Given the description of an element on the screen output the (x, y) to click on. 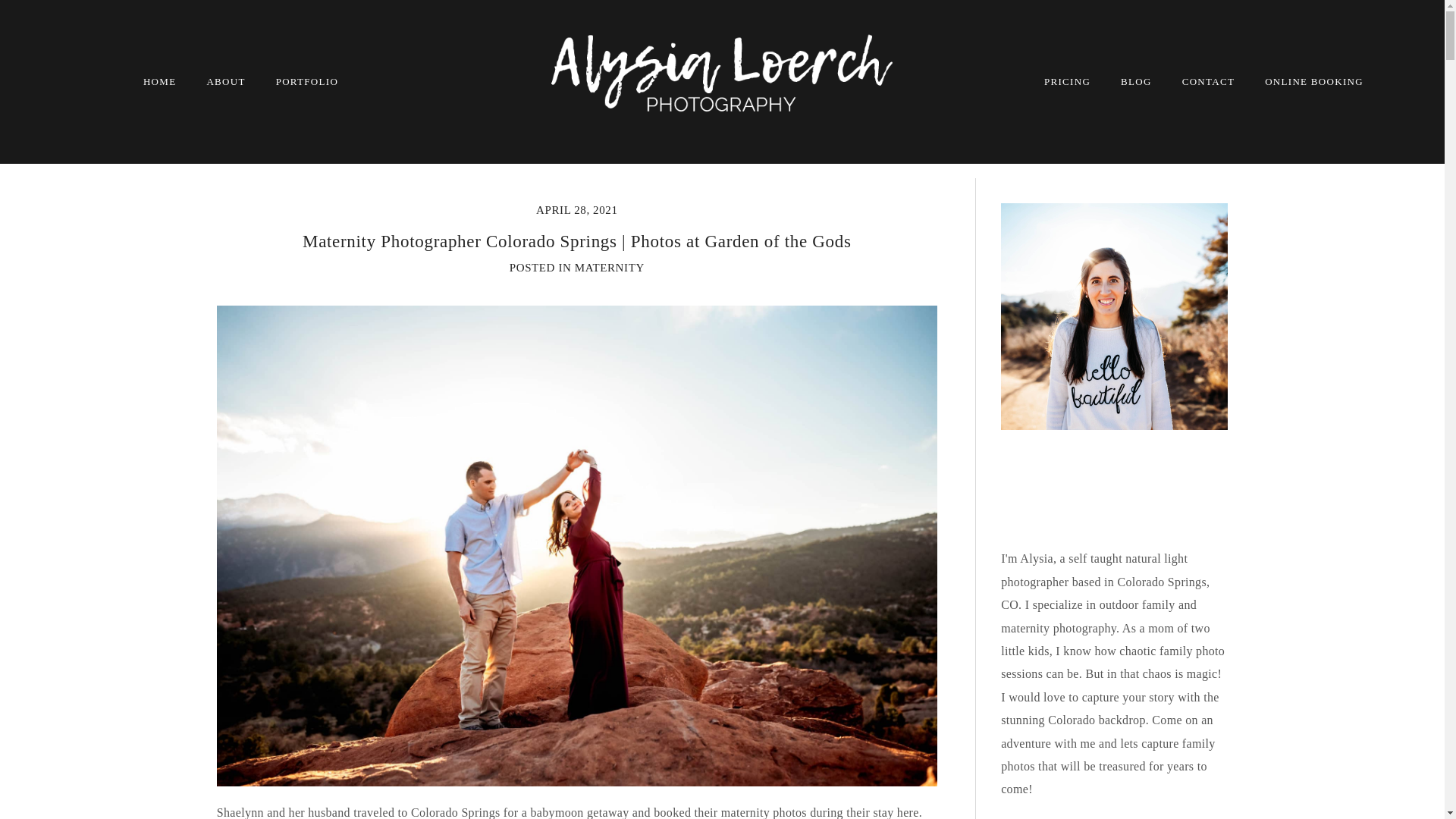
BLOG (1136, 81)
ABOUT (225, 81)
MATERNITY (610, 267)
PRICING (1066, 81)
PORTFOLIO (306, 81)
CONTACT (1208, 81)
HOME (159, 81)
ONLINE BOOKING (1313, 81)
